Given the description of an element on the screen output the (x, y) to click on. 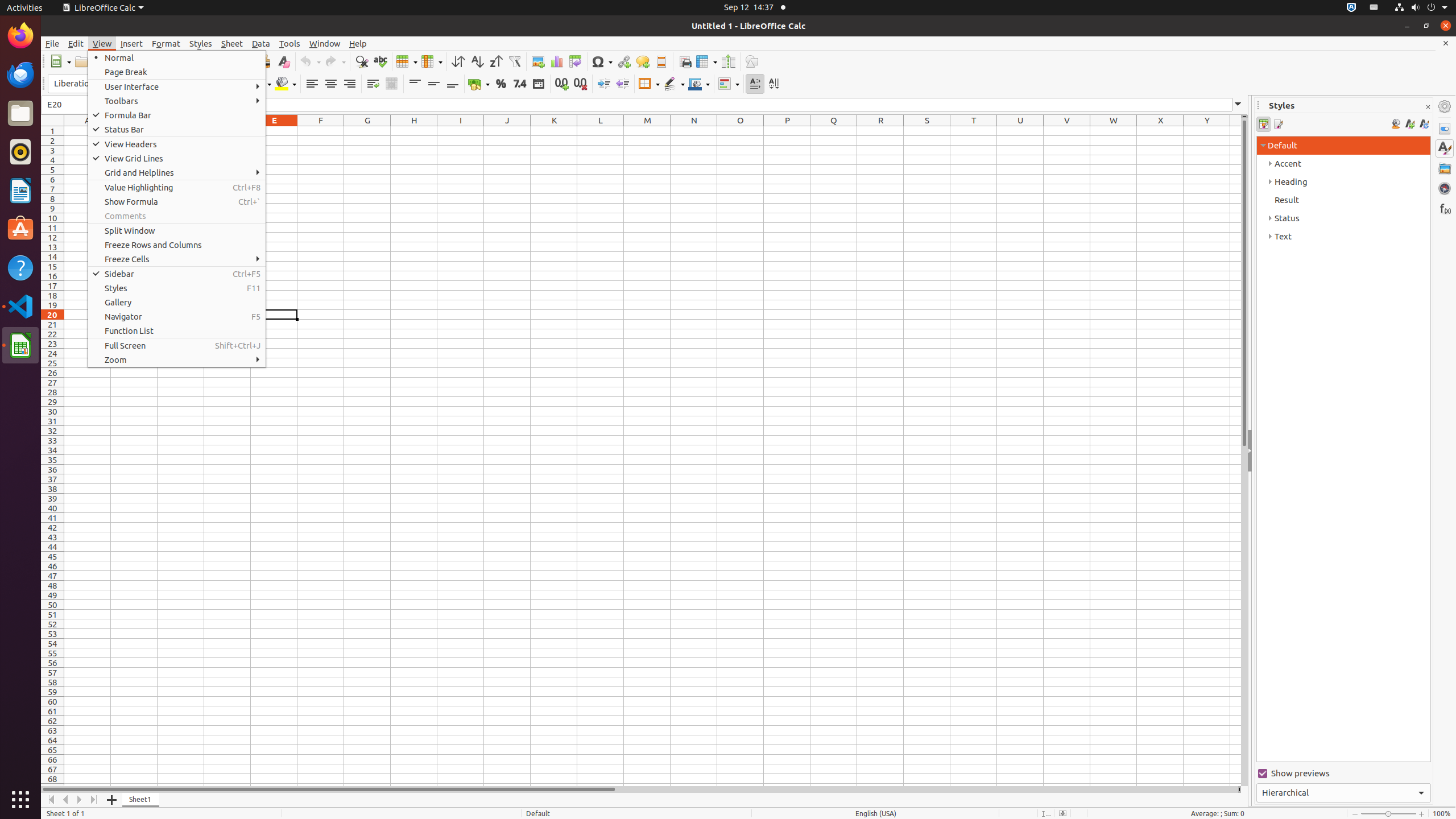
Undo Element type: push-button (309, 61)
Borders (Shift to overwrite) Element type: push-button (648, 83)
View Headers Element type: check-menu-item (176, 144)
J1 Element type: table-cell (507, 130)
V1 Element type: table-cell (1066, 130)
